Given the description of an element on the screen output the (x, y) to click on. 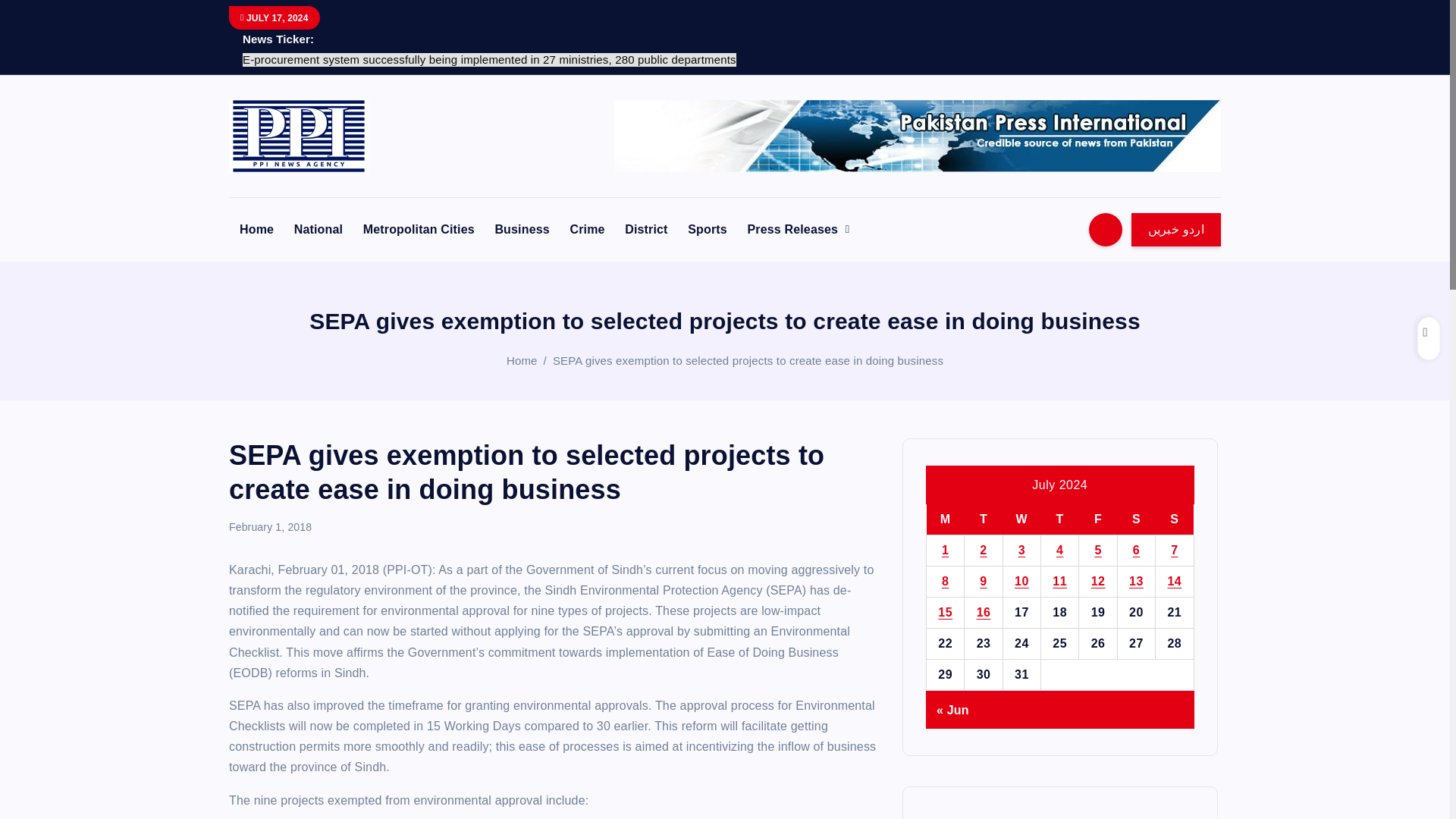
Sports (707, 229)
Business (521, 229)
Home (255, 229)
Crime (586, 229)
Metropolitan Cities (418, 229)
District (646, 229)
Home (255, 229)
District (646, 229)
Press Releases (798, 229)
National (318, 229)
Crime (586, 229)
Home (521, 359)
Sports (707, 229)
National (318, 229)
Metropolitan Cities (418, 229)
